Given the description of an element on the screen output the (x, y) to click on. 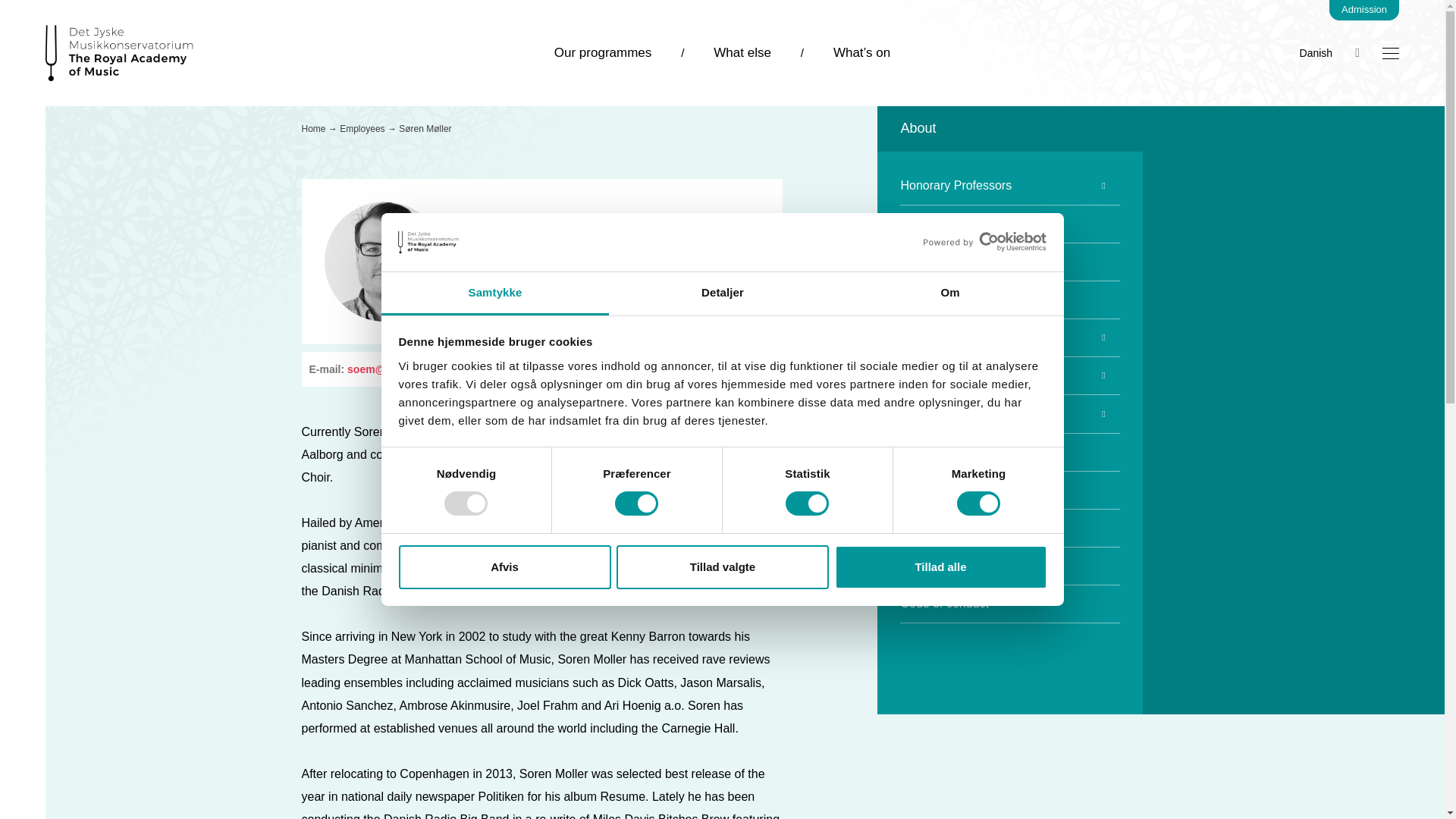
Tillad valgte (721, 566)
Om (948, 293)
Danish (1316, 52)
Detaljer (721, 293)
Tillad alle (940, 566)
Afvis (503, 566)
Samtykke (494, 293)
